Given the description of an element on the screen output the (x, y) to click on. 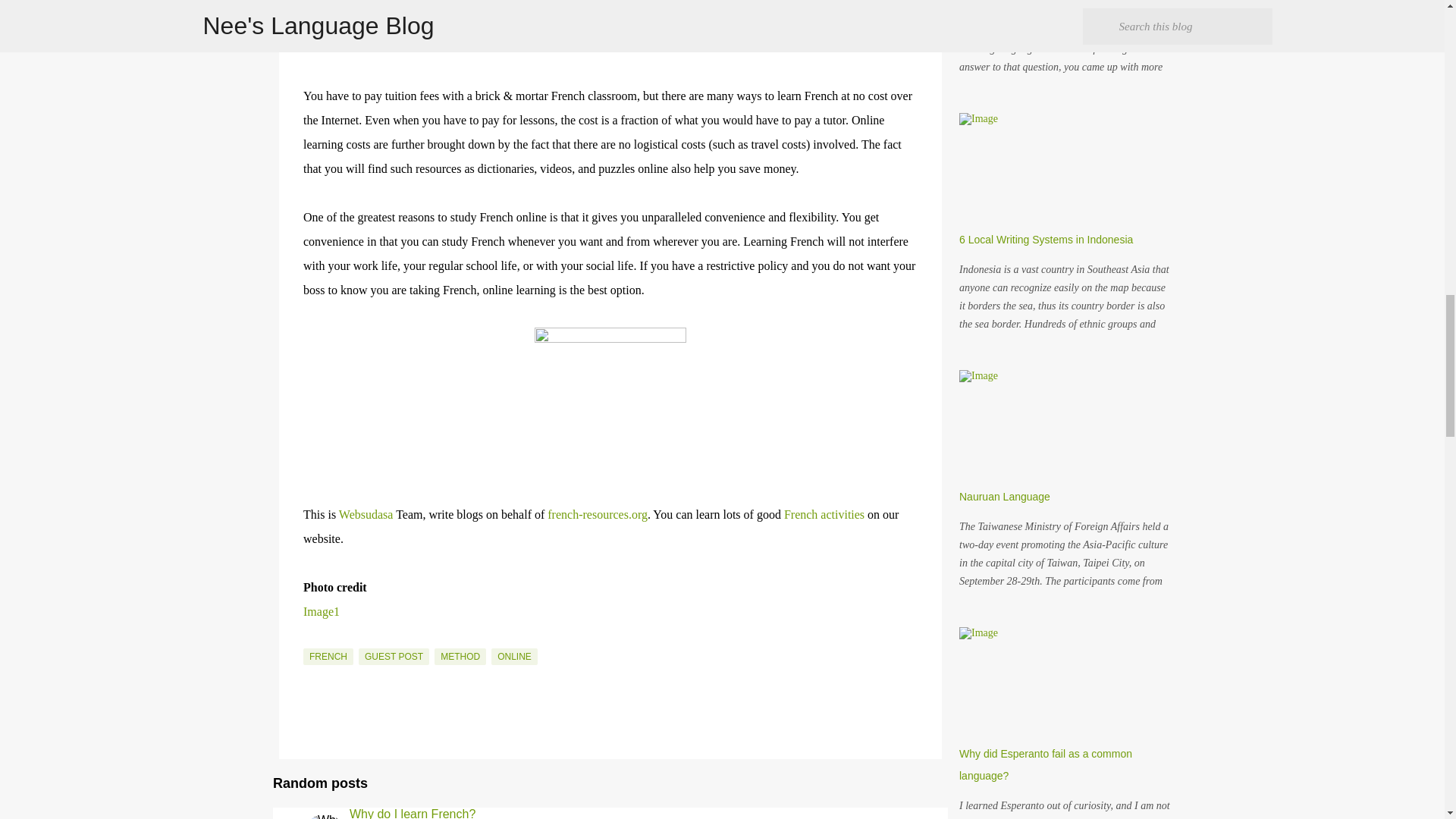
french-resources.org (597, 513)
METHOD (459, 656)
French activities (824, 513)
Websudasa (367, 513)
Image1 (320, 611)
GUEST POST (393, 656)
ONLINE (514, 656)
FRENCH (327, 656)
Why do I learn French? (412, 811)
Email Post (311, 638)
